Given the description of an element on the screen output the (x, y) to click on. 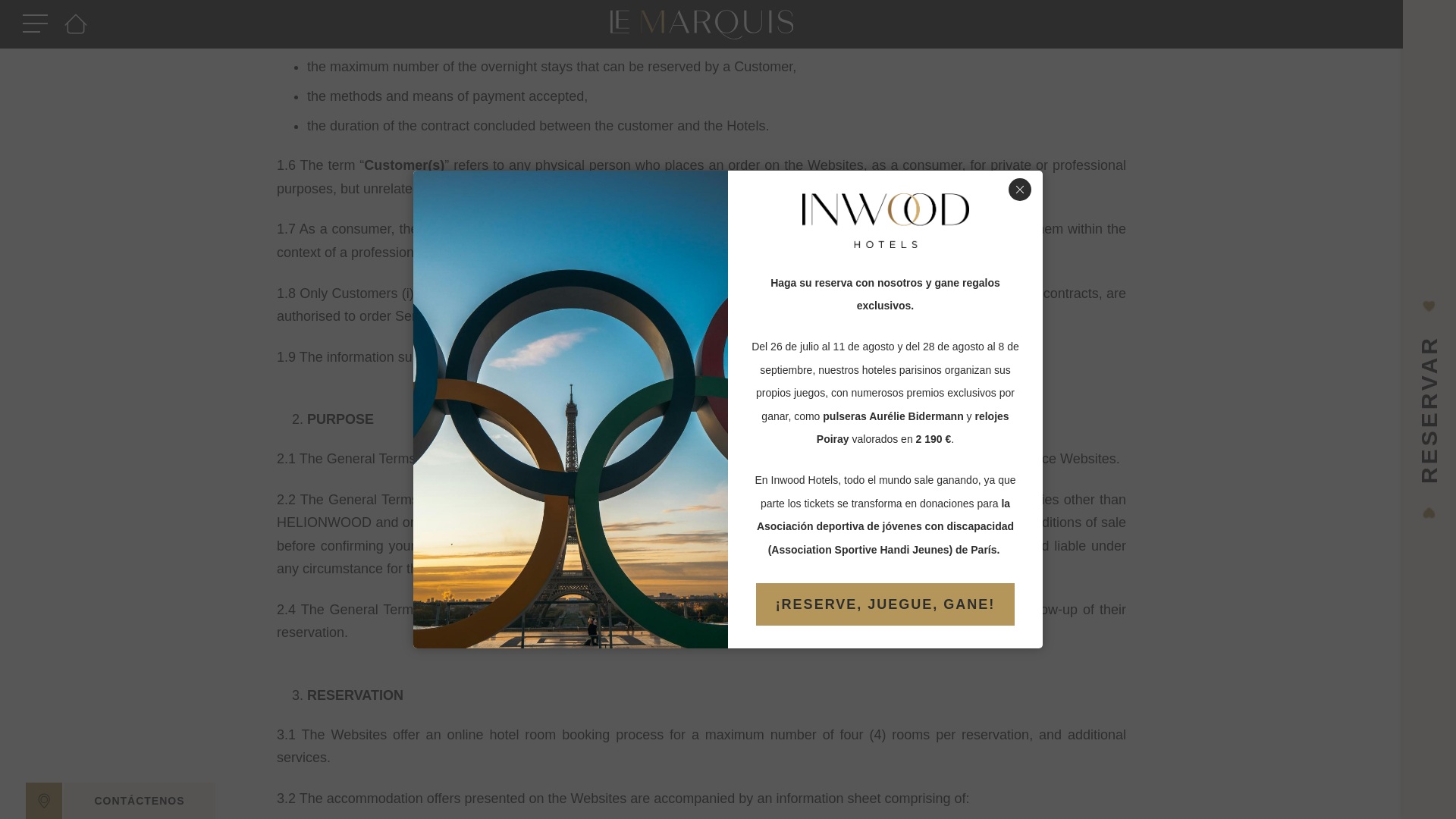
ENVIAR (139, 392)
